Given the description of an element on the screen output the (x, y) to click on. 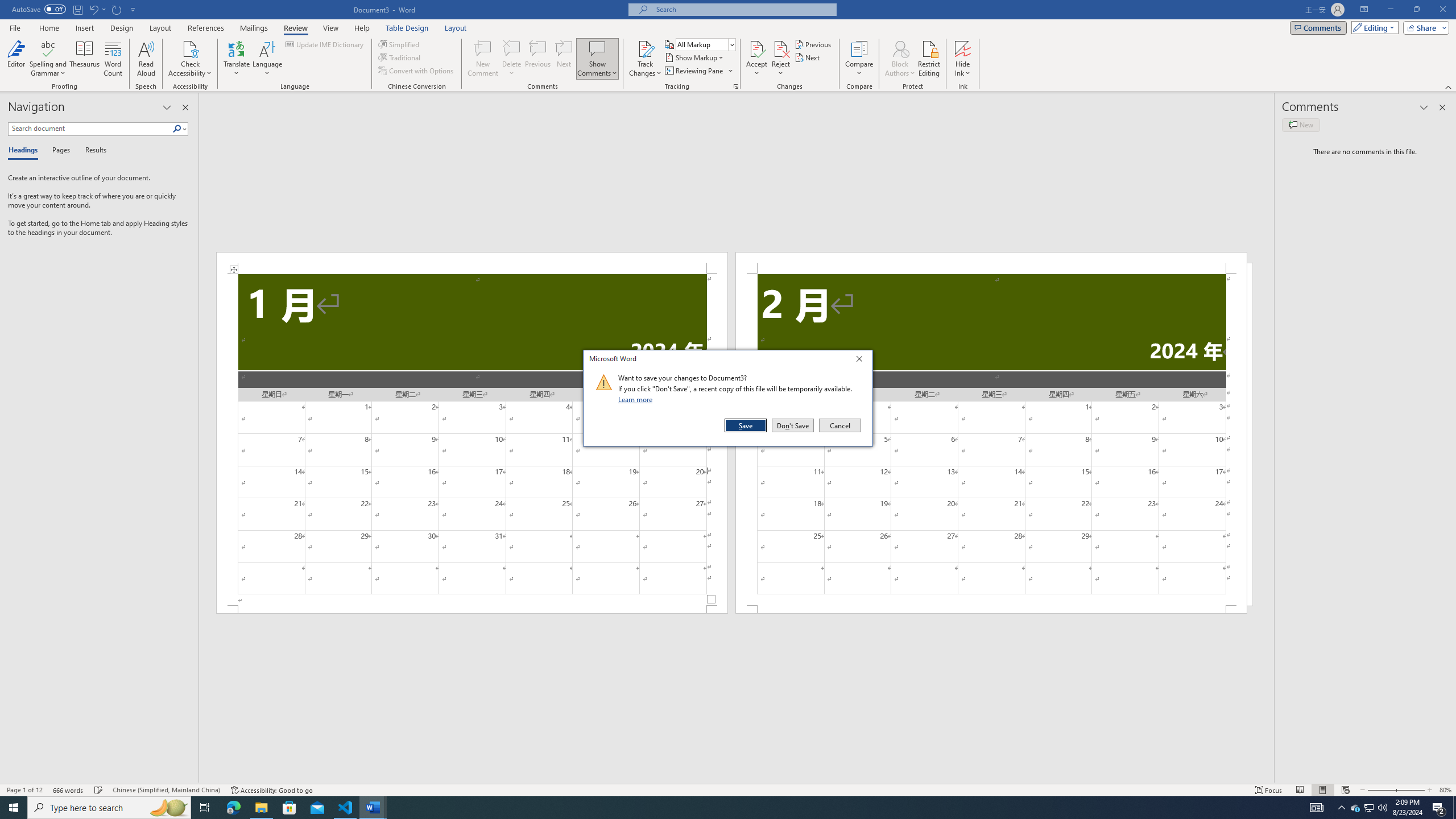
Reject and Move to Next (780, 48)
Show Comments (597, 58)
Page Number Page 1 of 12 (24, 790)
New comment (1300, 124)
Block Authors (900, 48)
Read Aloud (145, 58)
Delete (511, 58)
New Comment (482, 58)
Task View (204, 807)
